Given the description of an element on the screen output the (x, y) to click on. 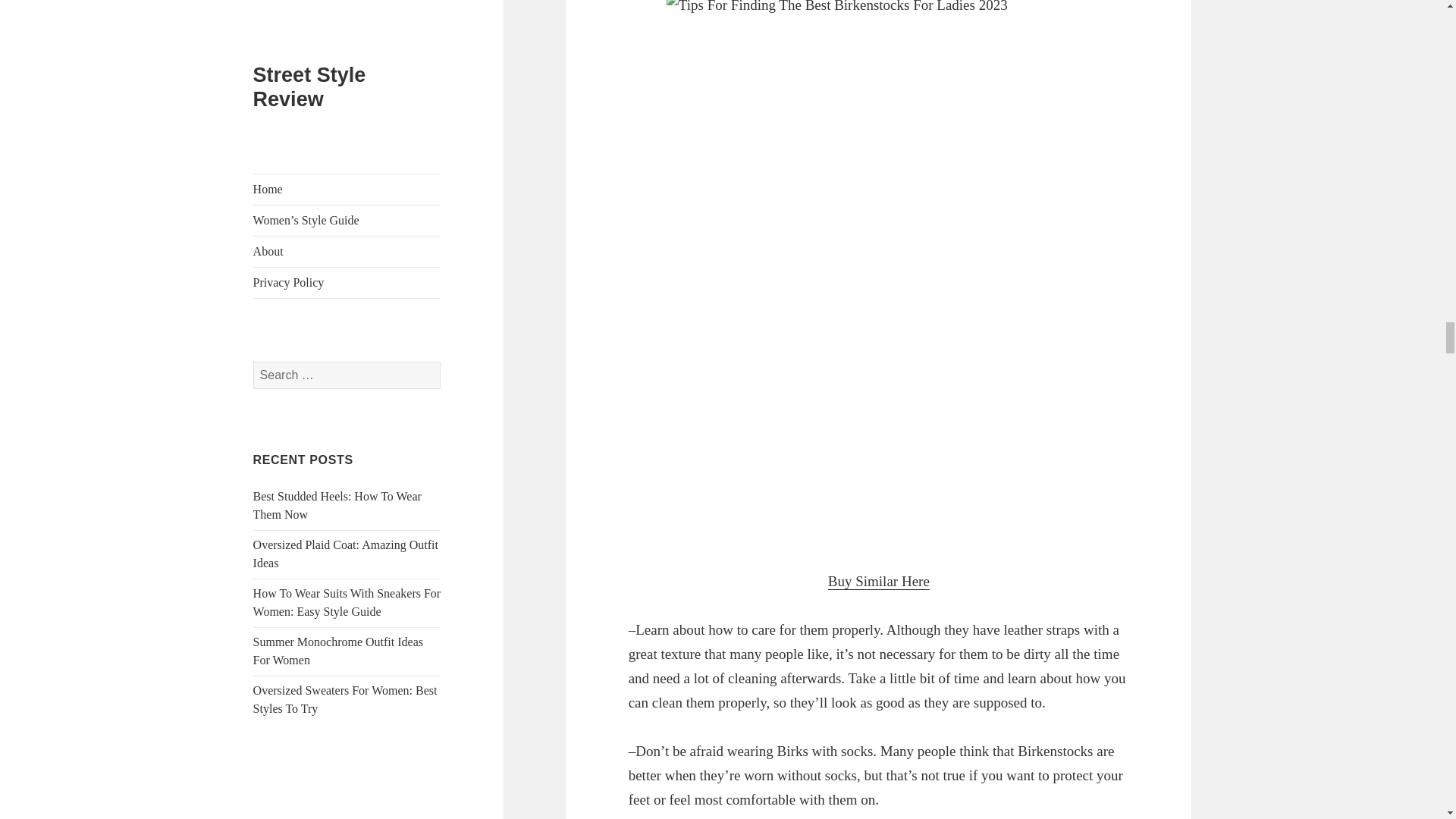
Buy Similar Here (879, 581)
